Given the description of an element on the screen output the (x, y) to click on. 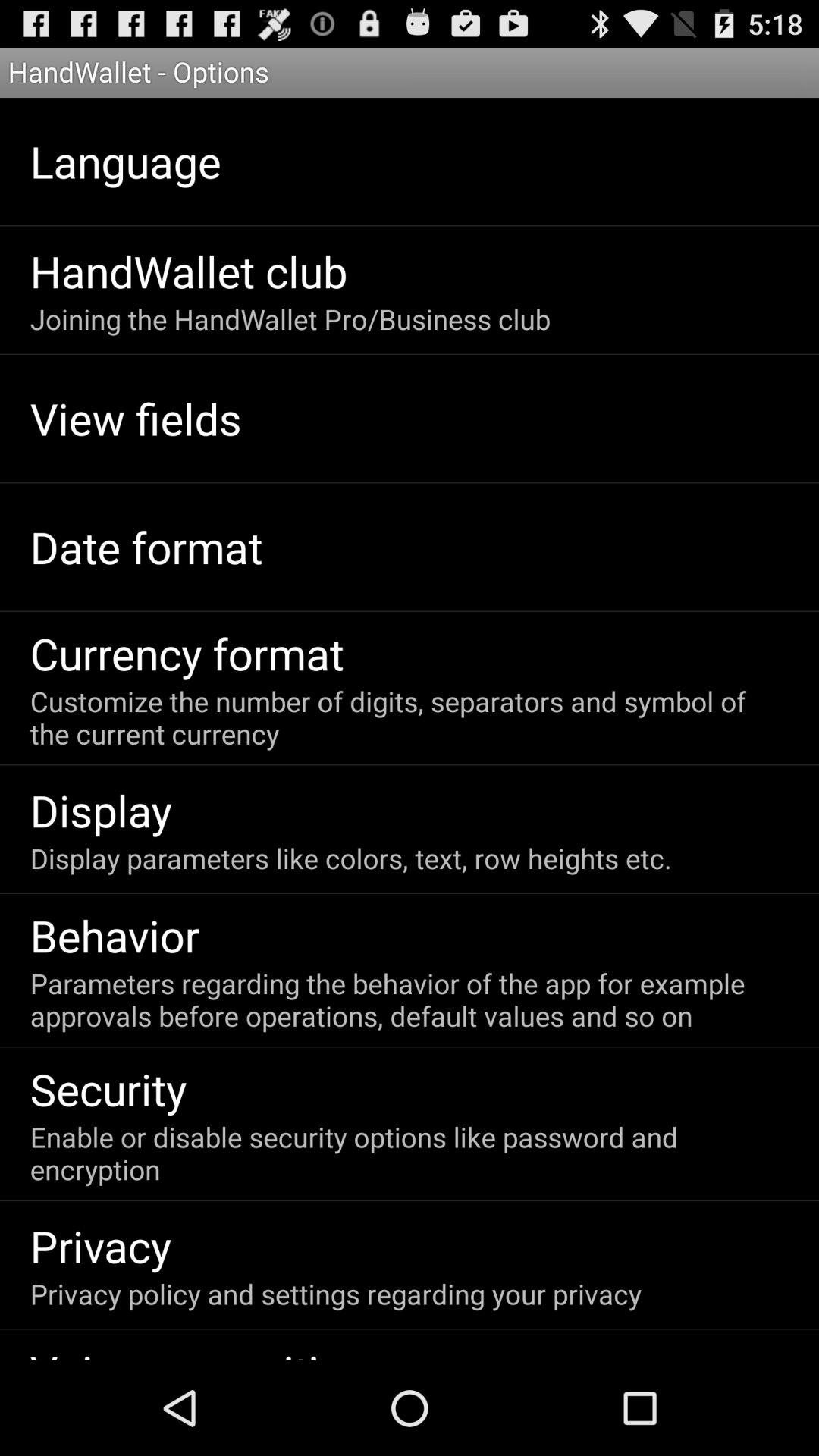
press item above security app (408, 999)
